Given the description of an element on the screen output the (x, y) to click on. 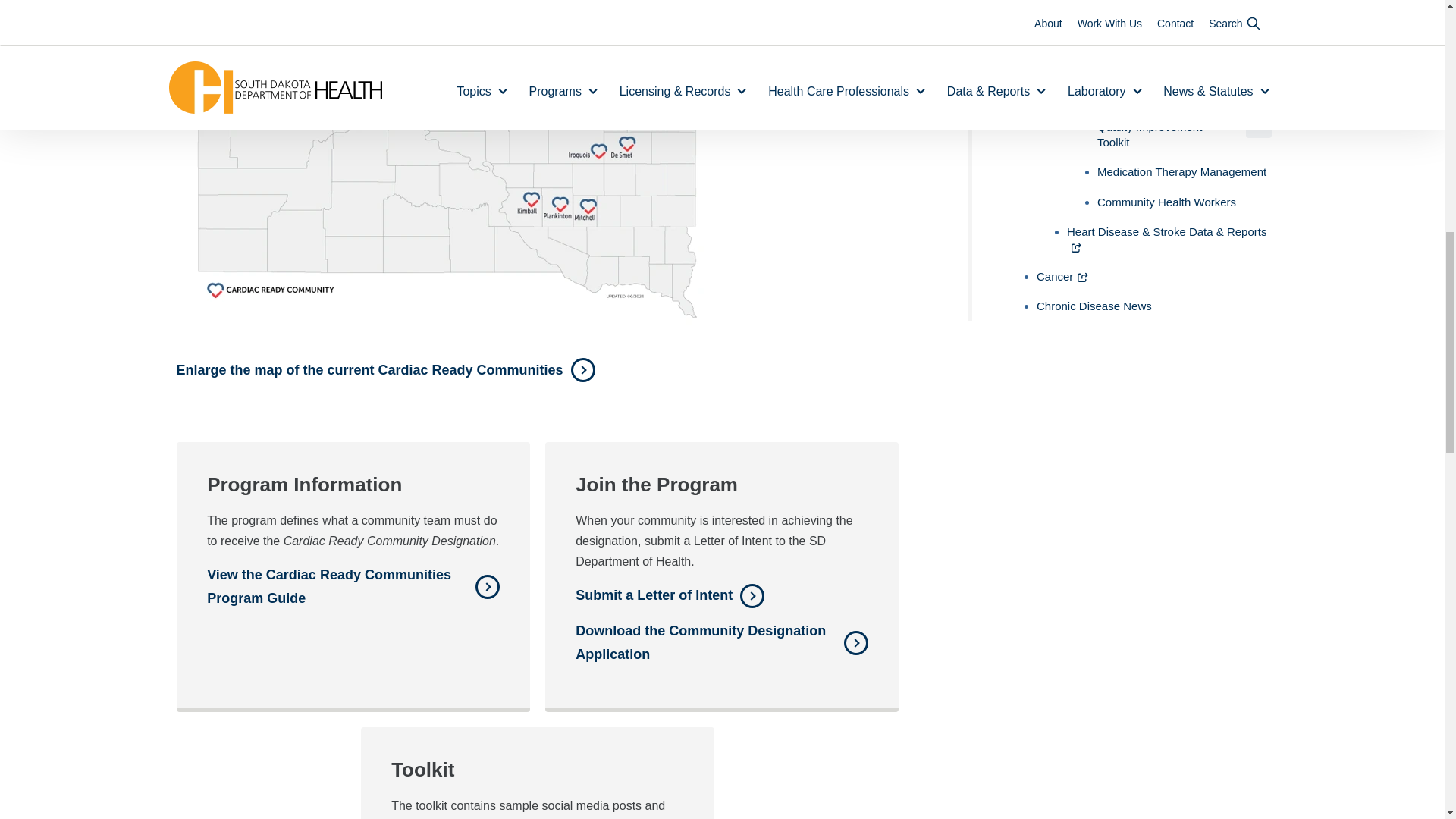
Cardiac Ready Community Designation Program Guide (352, 586)
SD Cardiac Ready Community Designation APPLICATION (721, 642)
Letter Of Intent (669, 595)
